Given the description of an element on the screen output the (x, y) to click on. 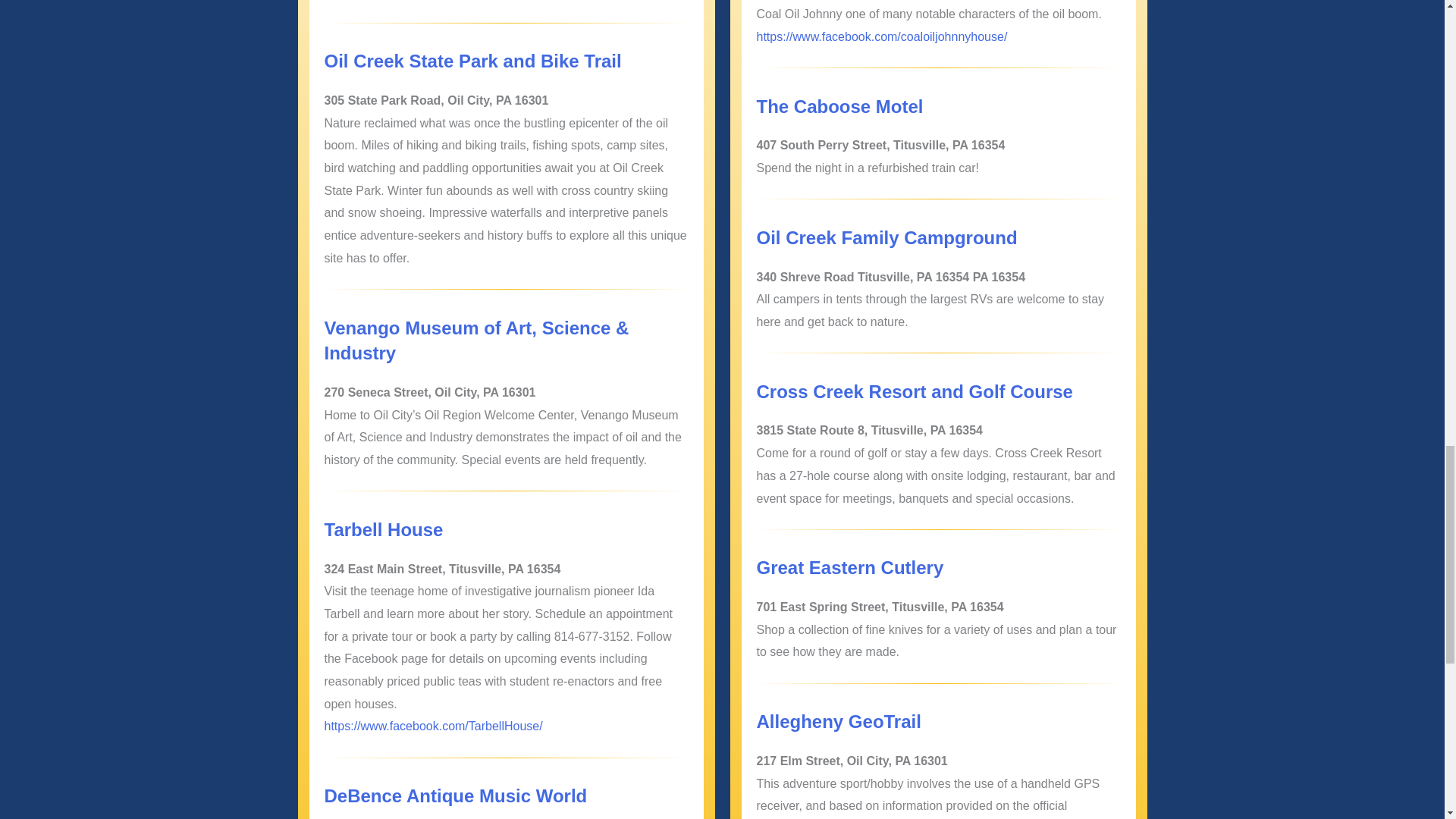
Oil Creek State Park and Bike Trail (472, 60)
DeBence Antique Music World (456, 795)
Tarbell House (384, 529)
